Given the description of an element on the screen output the (x, y) to click on. 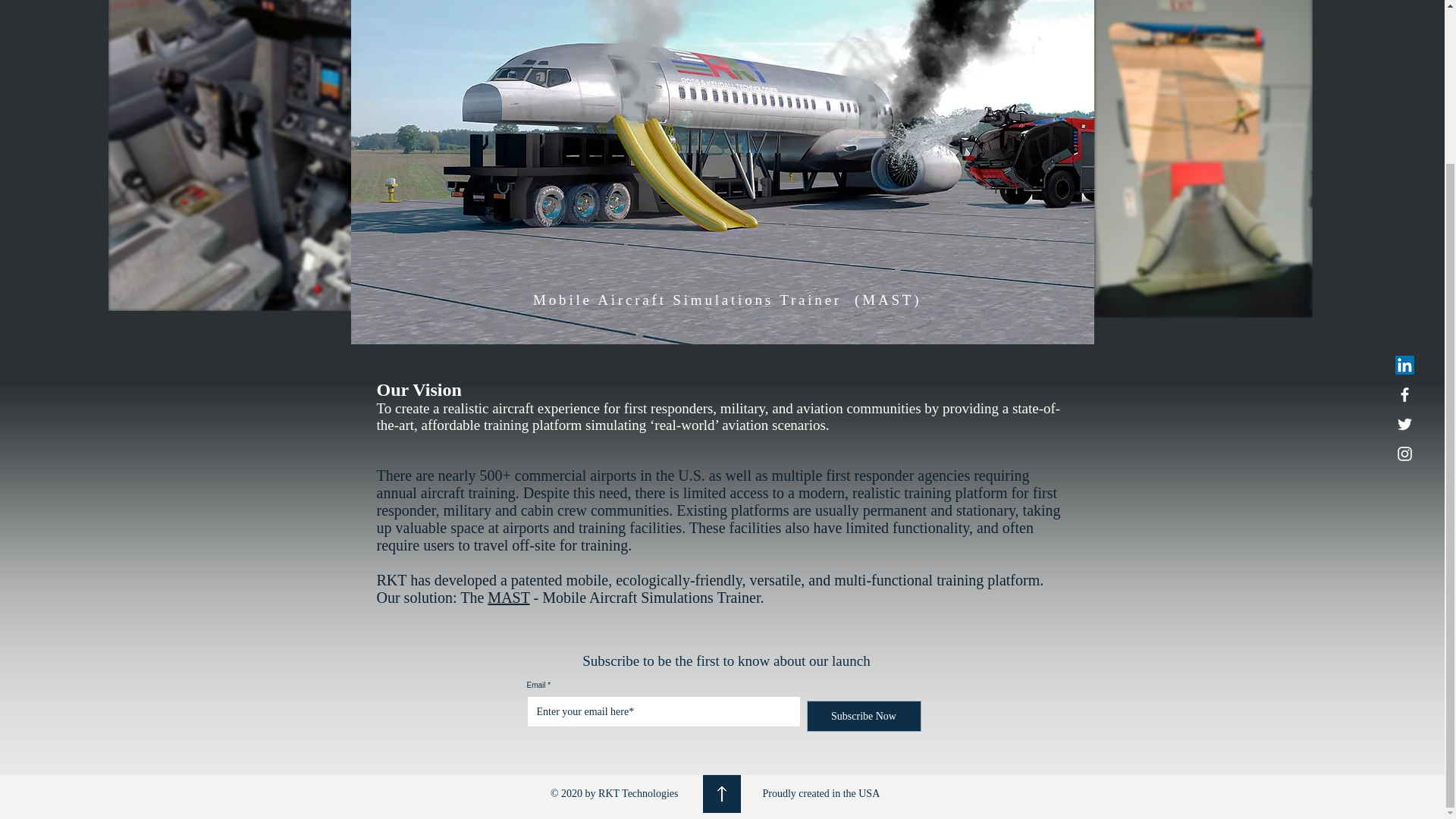
Subscribe Now (863, 716)
Subscribe to be the first to know about our launch (725, 660)
8.jpg (260, 155)
